Given the description of an element on the screen output the (x, y) to click on. 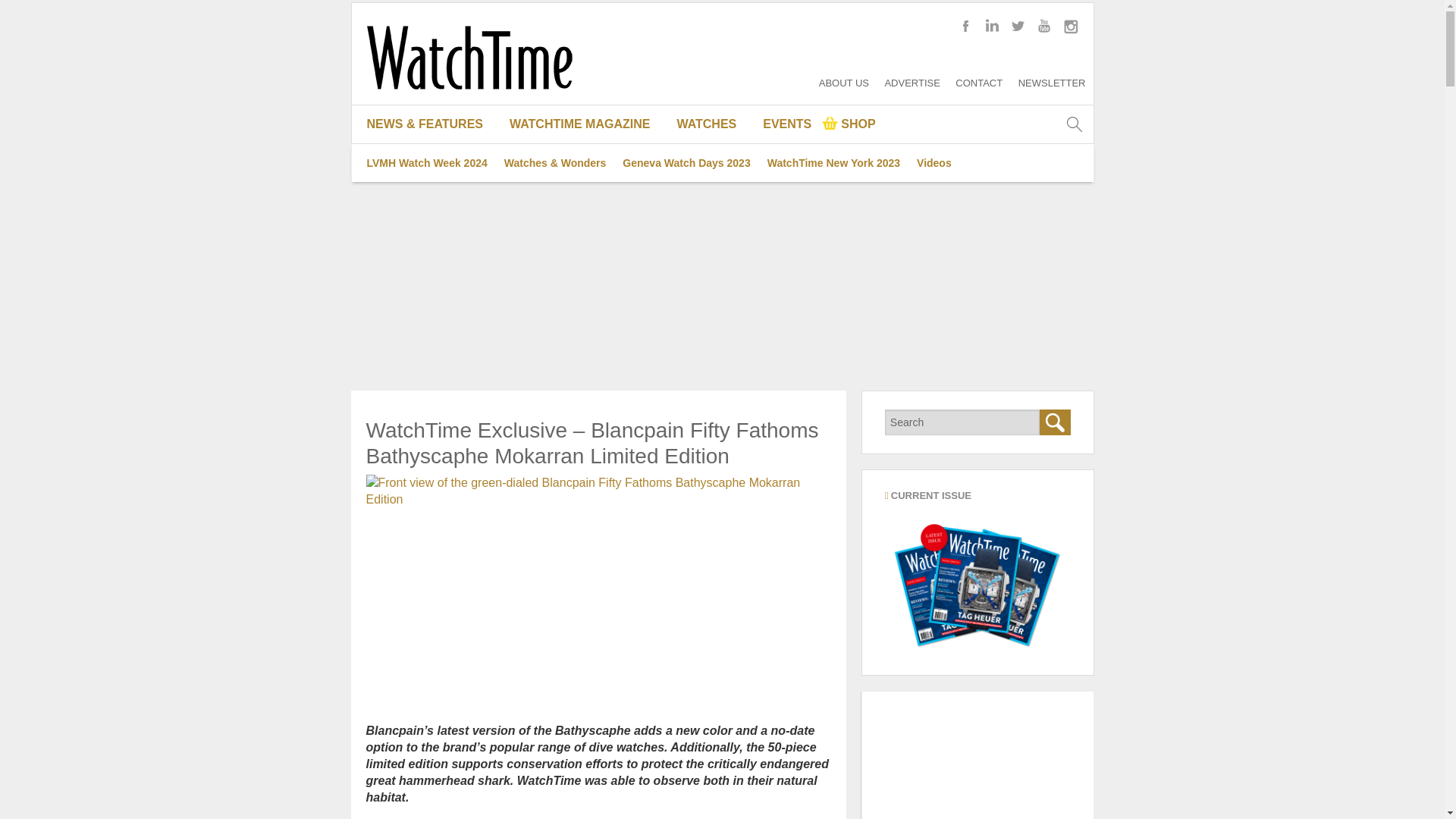
WatchTime Shop (848, 124)
Geneva Watch Days 2023 (686, 162)
WATCH TERM GLOSSARY (712, 238)
Videos (934, 162)
LVMH Watch Week 2024 (426, 162)
CURRENT ISSUE (585, 161)
CONTACT (979, 82)
ADVERTISE (911, 82)
PRINT ARCHIVE (585, 199)
POPULAR WATCH BRANDS (712, 161)
